Given the description of an element on the screen output the (x, y) to click on. 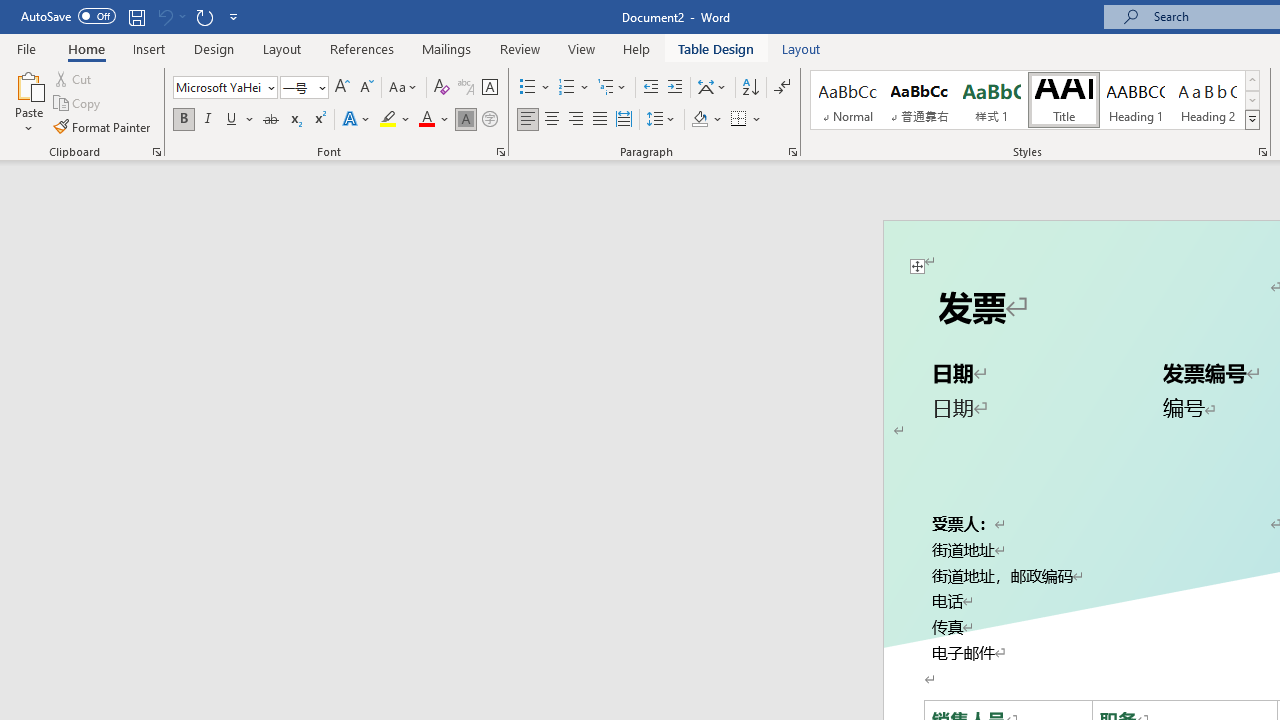
Can't Undo (164, 15)
